Given the description of an element on the screen output the (x, y) to click on. 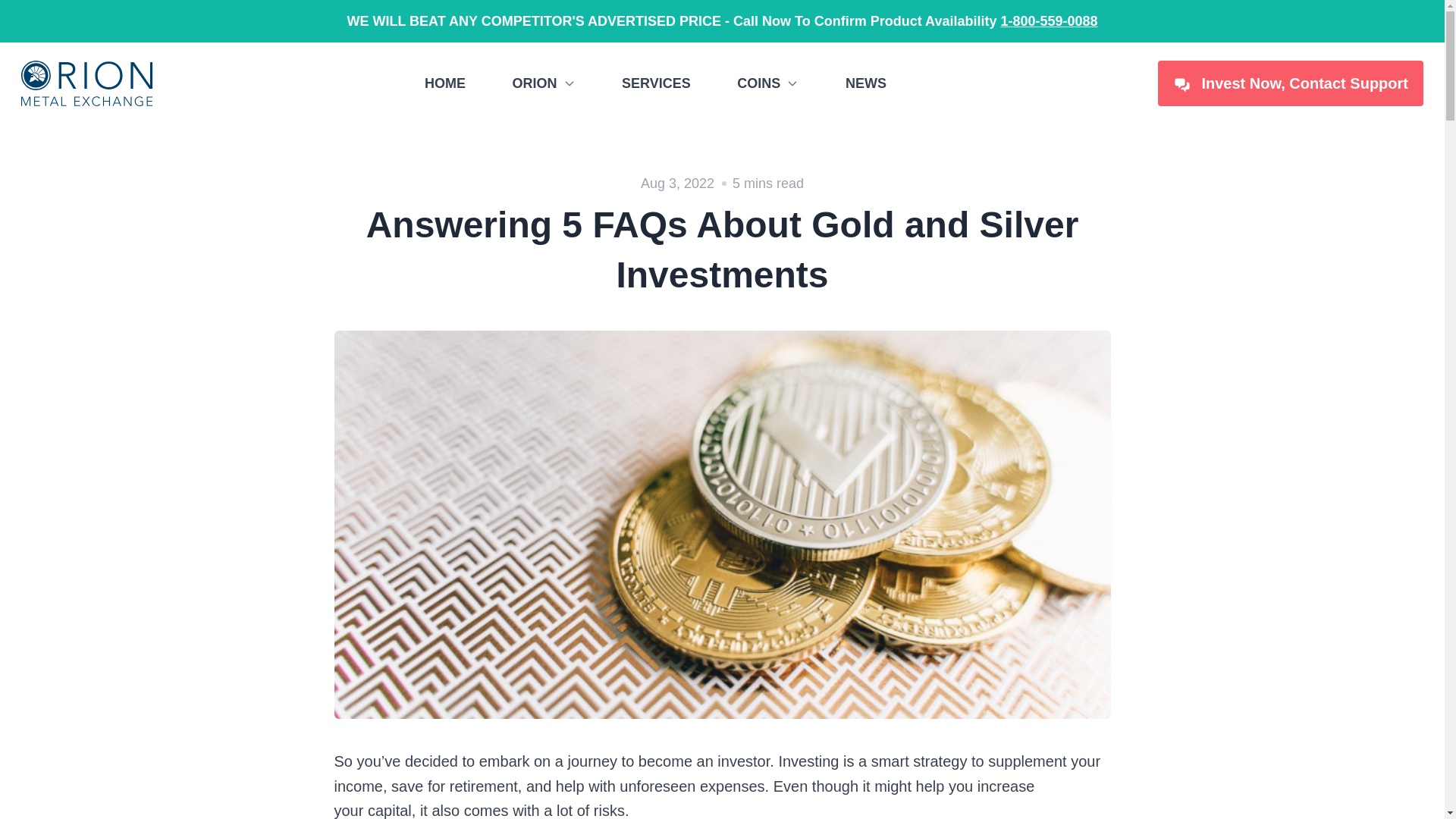
1-800-559-0088 (1048, 20)
SERVICES (655, 83)
ORION (543, 83)
COINS (766, 83)
HOME (445, 83)
Invest Now, Contact Support (1290, 83)
NEWS (865, 83)
